Given the description of an element on the screen output the (x, y) to click on. 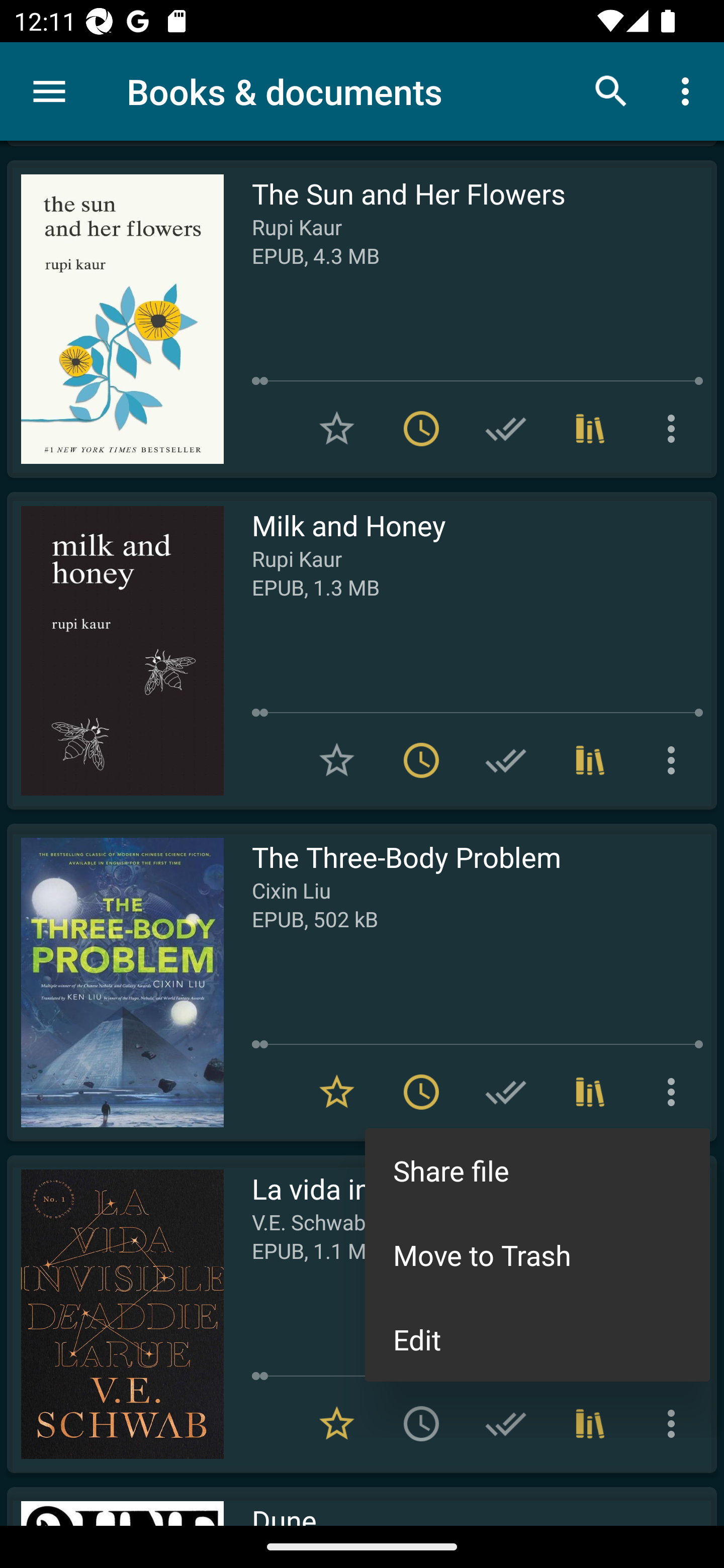
Share file (537, 1170)
Move to Trash (537, 1254)
Edit (537, 1338)
